Given the description of an element on the screen output the (x, y) to click on. 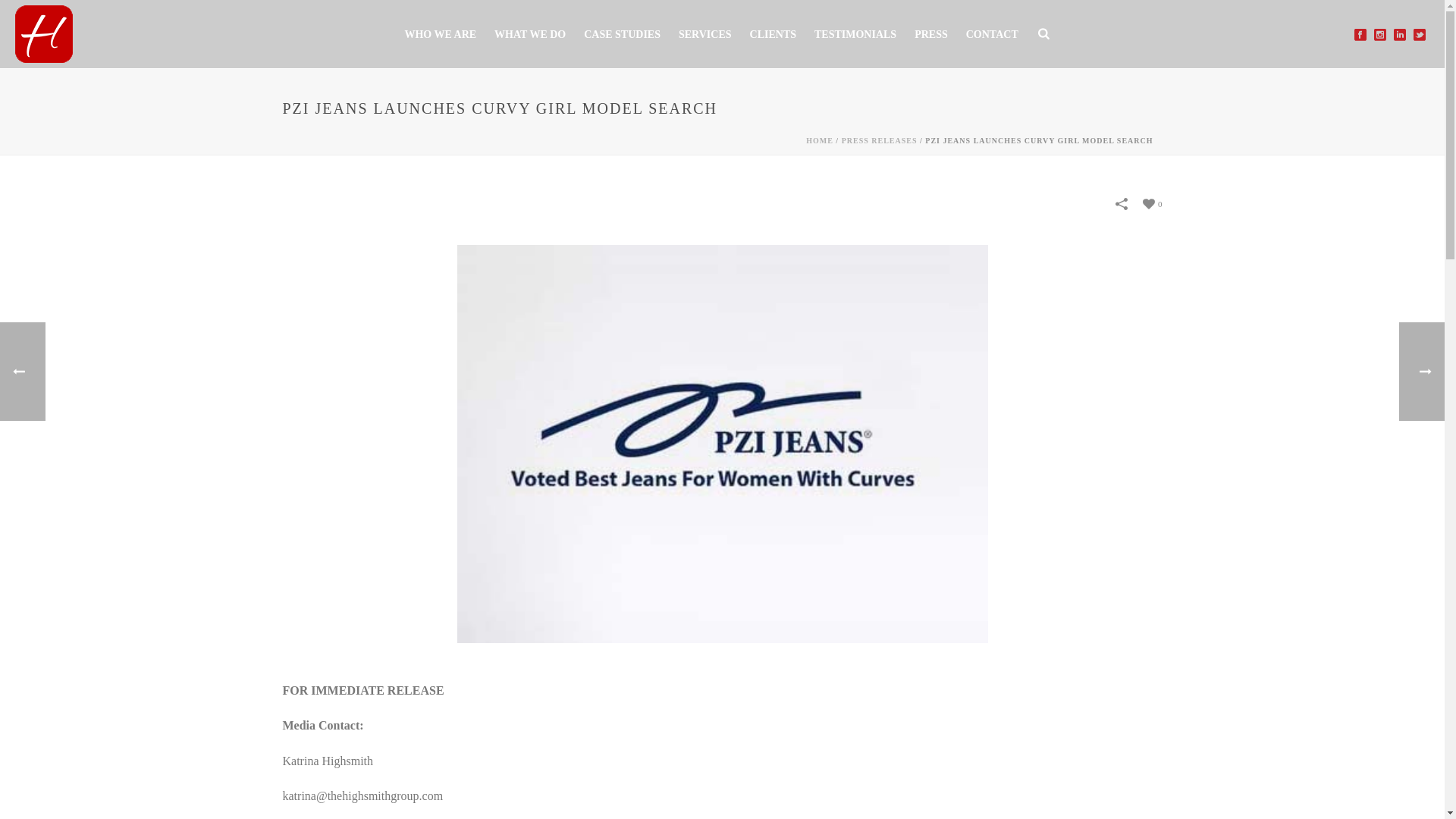
HOME (819, 140)
CONTACT (992, 34)
PZI JEANS LAUNCHES CURVY GIRL MODEL SEARCH (722, 441)
CASE STUDIES (622, 34)
CLIENTS (772, 34)
Raising the bar in Public Relations Management! (43, 33)
SERVICES (705, 34)
PRESS RELEASES (879, 140)
WHO WE ARE (439, 34)
PRESS (931, 34)
CASE STUDIES (622, 34)
PRESS (931, 34)
CLIENTS (772, 34)
0 (1151, 202)
